Given the description of an element on the screen output the (x, y) to click on. 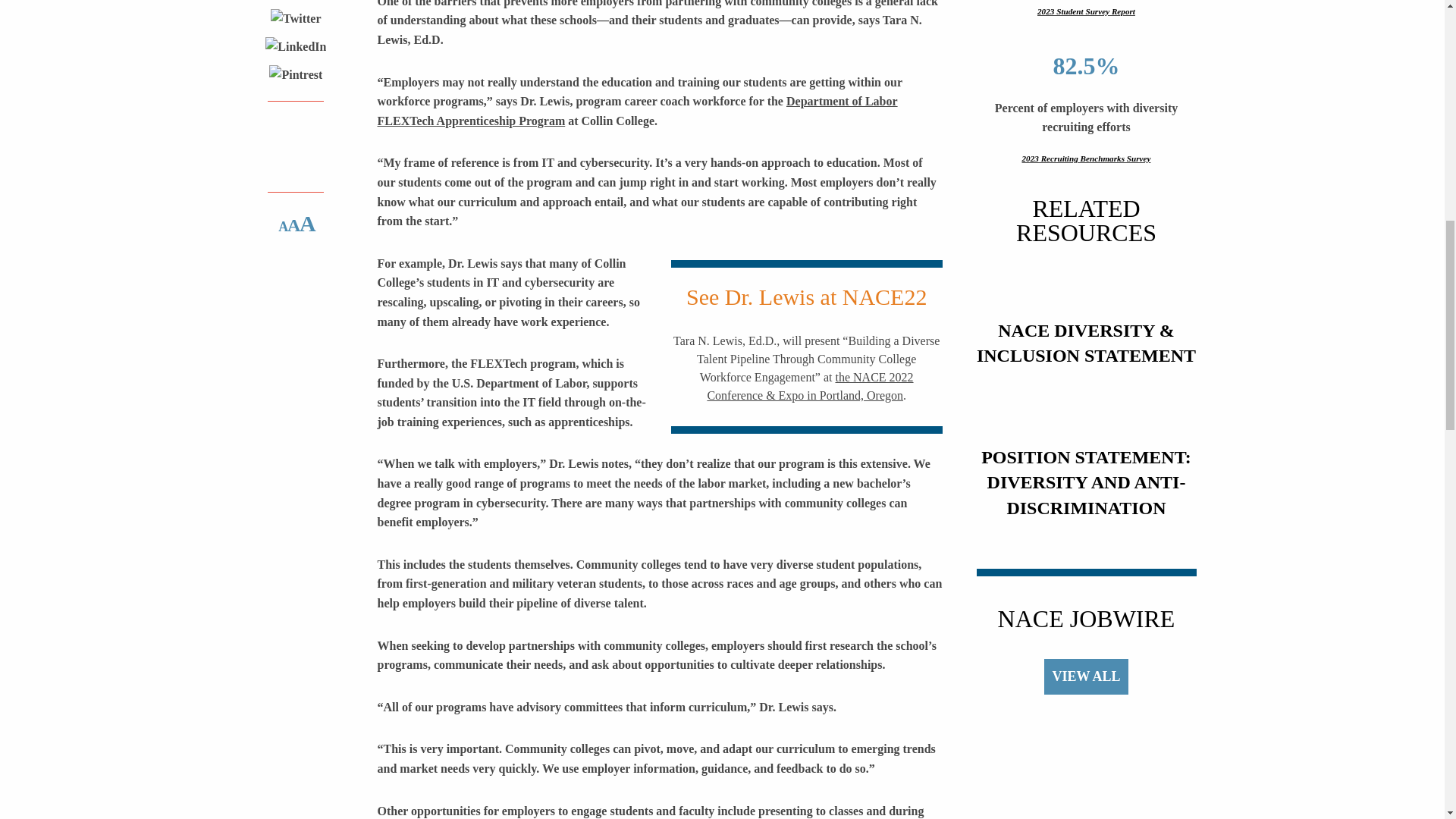
VIEW ALL (1084, 676)
2023 Student Survey Report (1086, 17)
Email (295, 164)
View All (1084, 676)
POSITION STATEMENT: DIVERSITY AND ANTI-DISCRIMINATION (1086, 483)
Department of Labor FLEXTech Apprenticeship Program (637, 111)
Print (295, 128)
2023 Recruiting Benchmarks Survey (1086, 158)
